Given the description of an element on the screen output the (x, y) to click on. 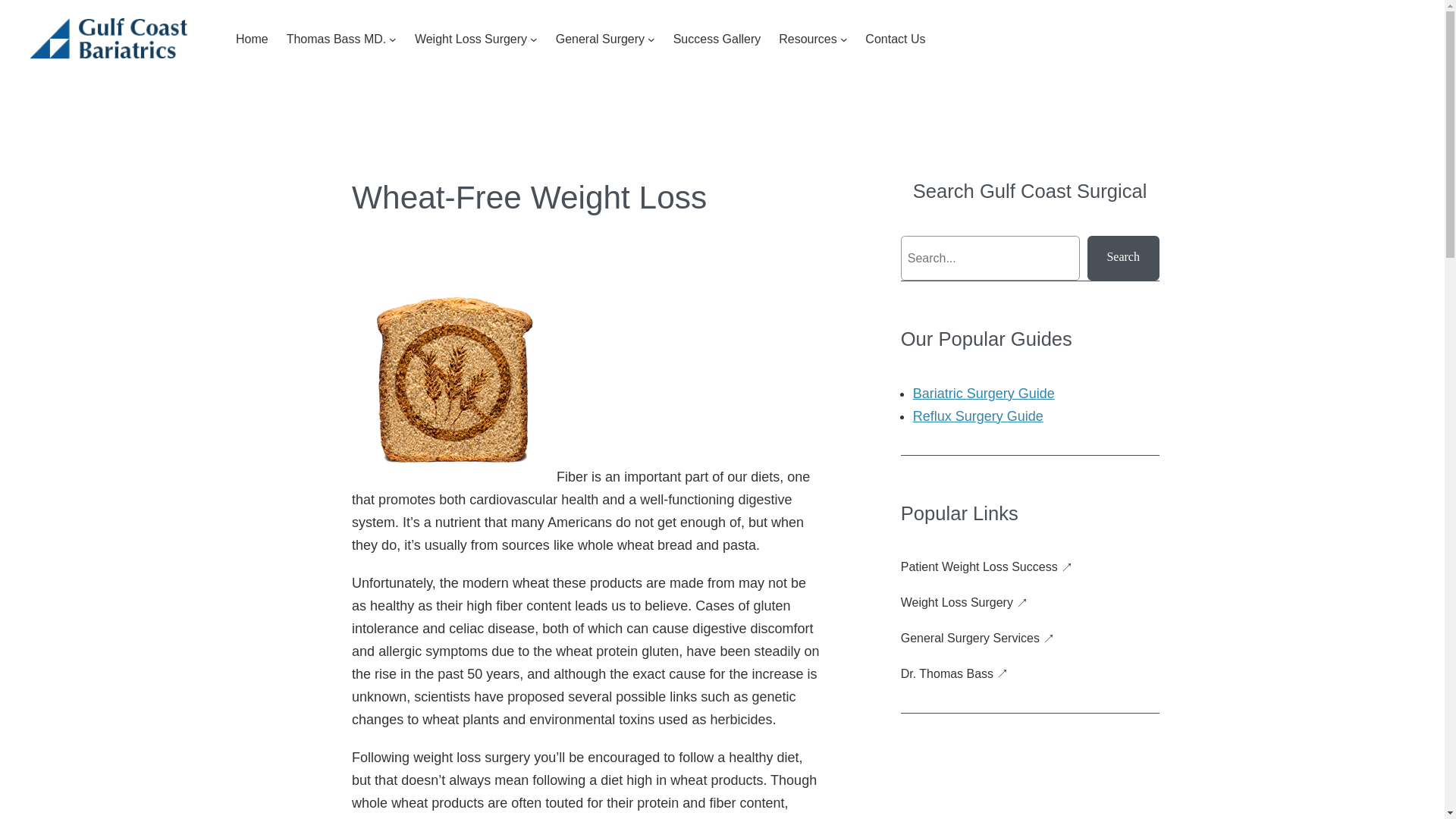
Weight Loss Surgery (470, 38)
Weight Loss Surgery (964, 603)
Success Gallery (716, 38)
Patient Weight Loss Success (987, 567)
Contact Us (894, 38)
General Surgery (600, 38)
General Surgery Services (977, 638)
Dr. Thomas Bass (955, 674)
Home (251, 38)
Thomas Bass MD. (336, 38)
Bariatric Surgery Guide (983, 393)
Reflux Surgery Guide (977, 416)
Search (1122, 257)
Resources (806, 38)
